Given the description of an element on the screen output the (x, y) to click on. 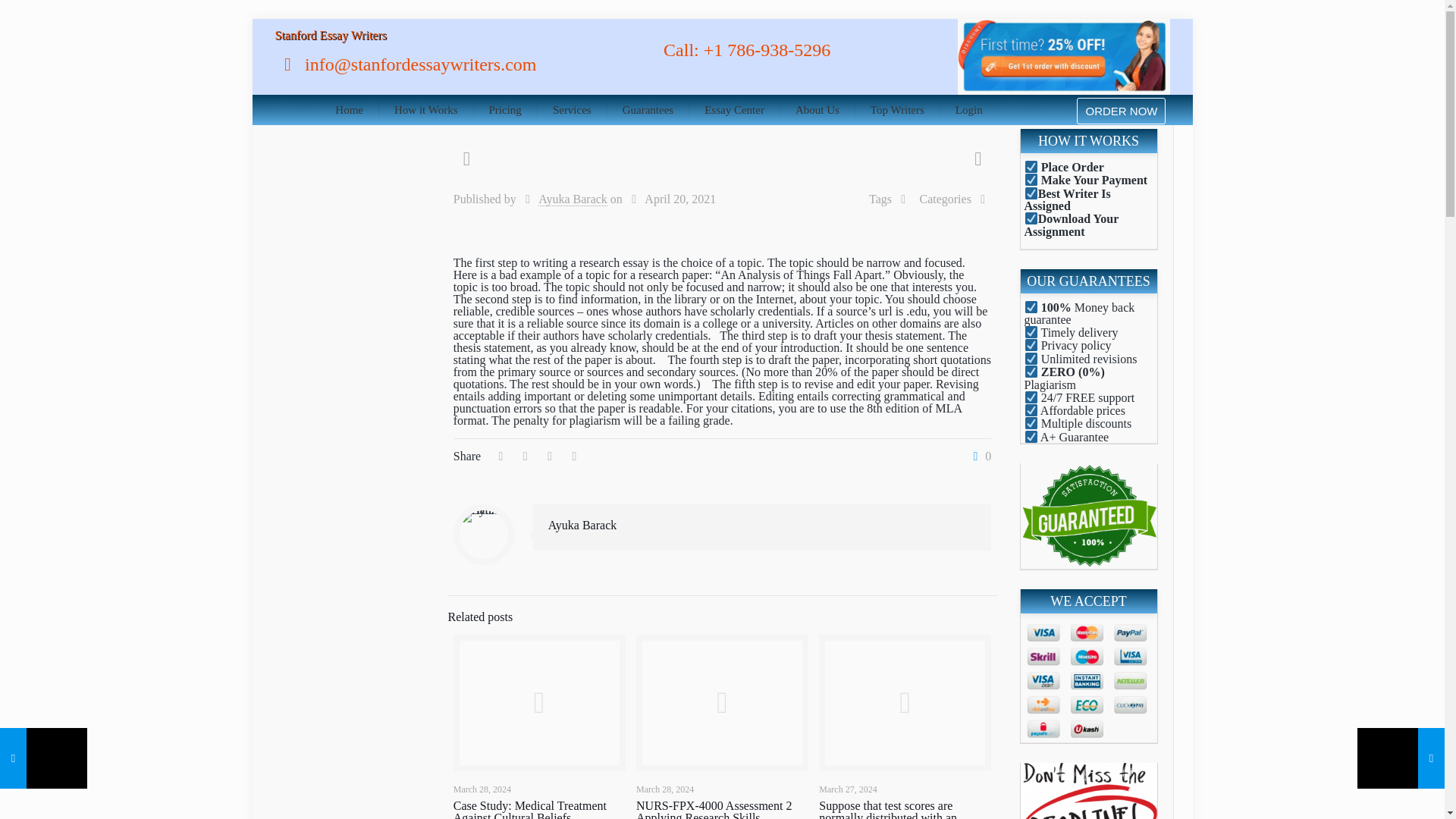
ORDER NOW (1121, 110)
About Us (818, 110)
Home (349, 110)
Guarantees (647, 110)
Top Writers (898, 110)
Pricing (505, 110)
Stanford Essay Writers (330, 34)
Essay Center (734, 110)
Login (968, 110)
Services (572, 110)
How it Works (426, 110)
